Given the description of an element on the screen output the (x, y) to click on. 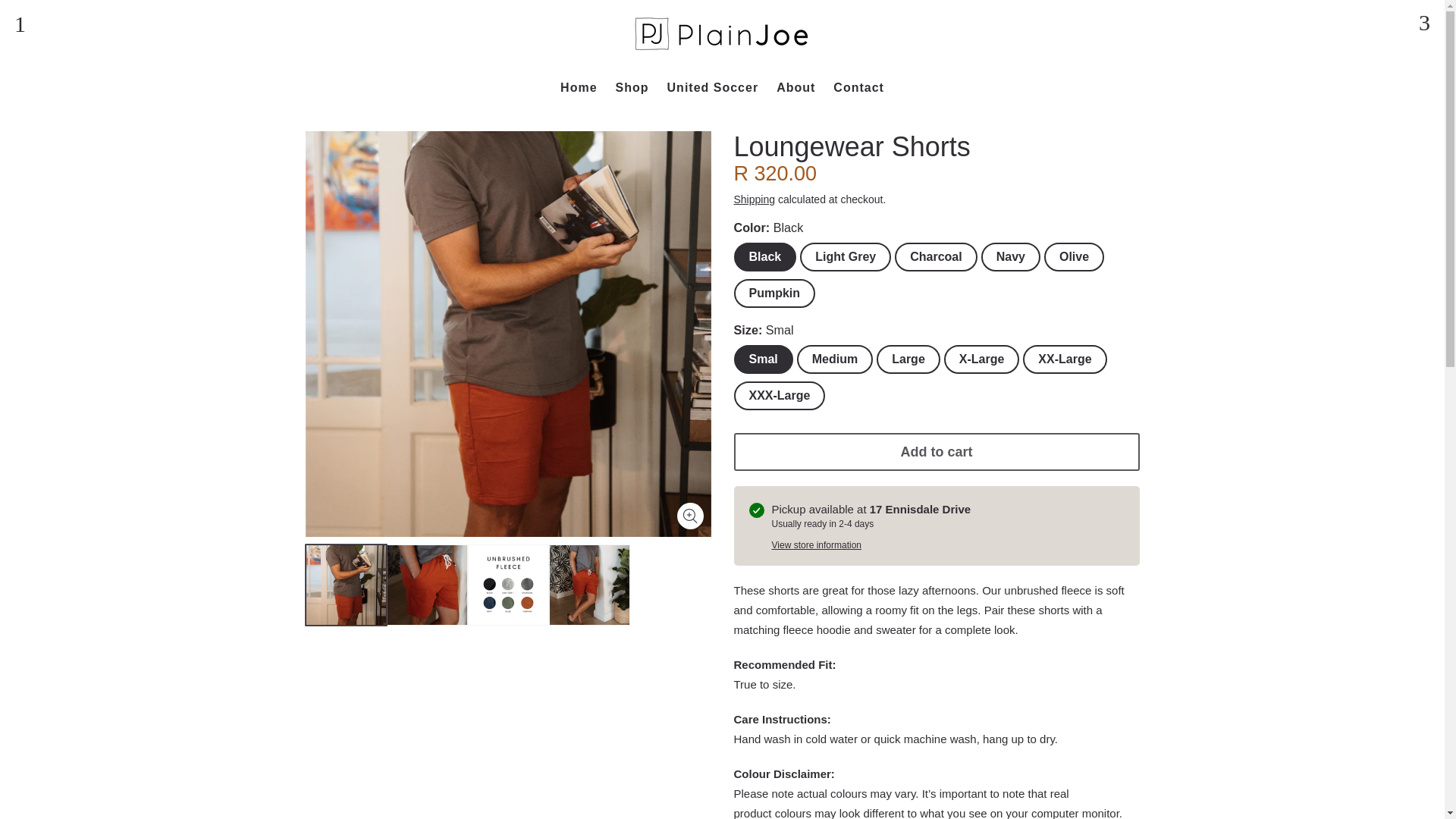
View store information (816, 545)
About (795, 87)
Shop (632, 87)
Contact (858, 87)
Shipping (754, 199)
Home (578, 87)
